Given the description of an element on the screen output the (x, y) to click on. 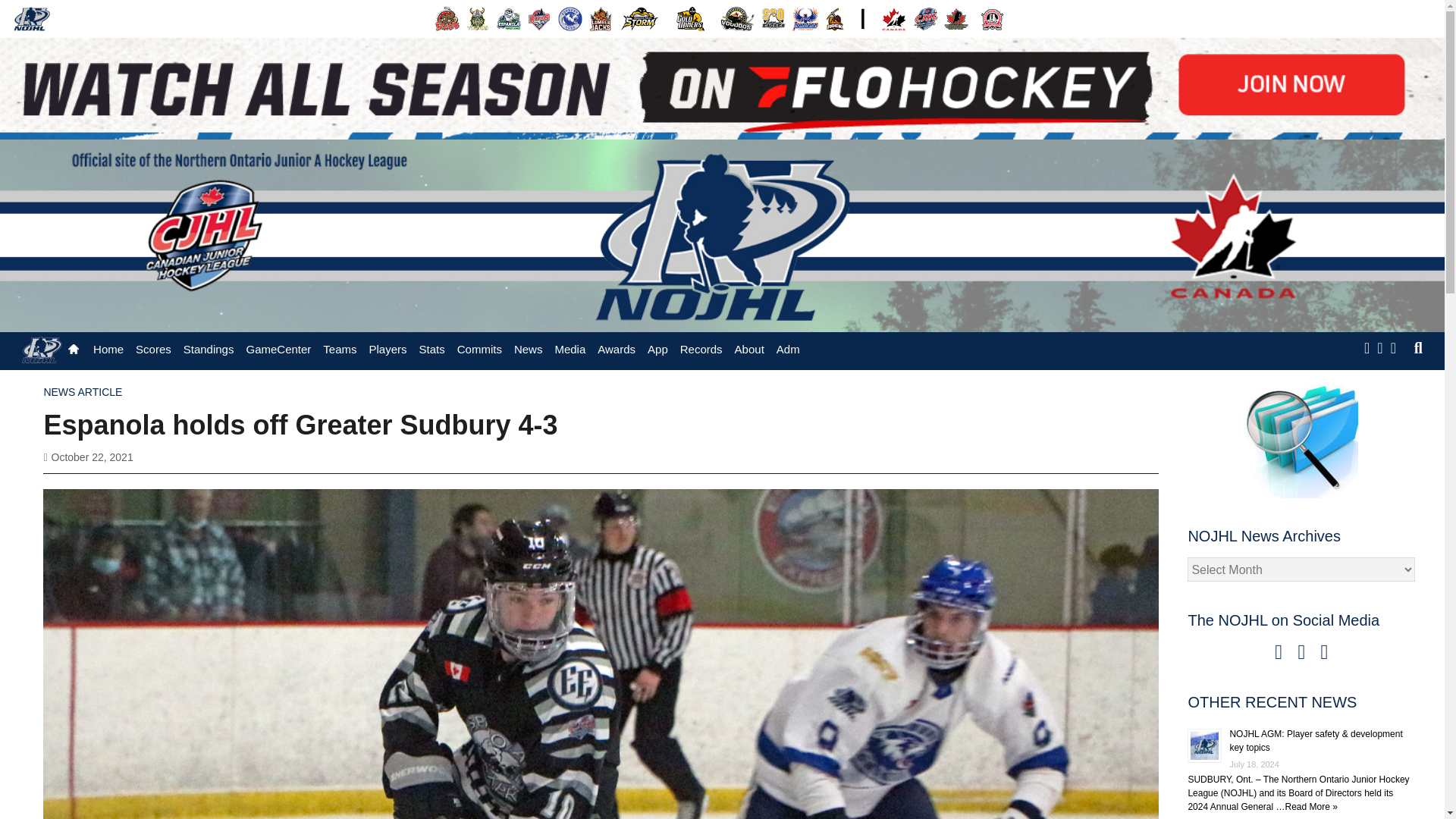
Soo Thunderbirds (805, 18)
Soo Eagles (773, 18)
Kirkland Lake Gold Miners (690, 18)
Iroquois Falls Storm (639, 18)
French River Rapids (539, 18)
Greater Sudbury Cubs (569, 18)
Blind River Beavers (447, 18)
Powassan Voodoos (737, 18)
Espanola Paper Kings (508, 18)
Hearst Lumberjacks (600, 18)
NOJHL (31, 18)
Elliot Lake Vikings (478, 18)
